Given the description of an element on the screen output the (x, y) to click on. 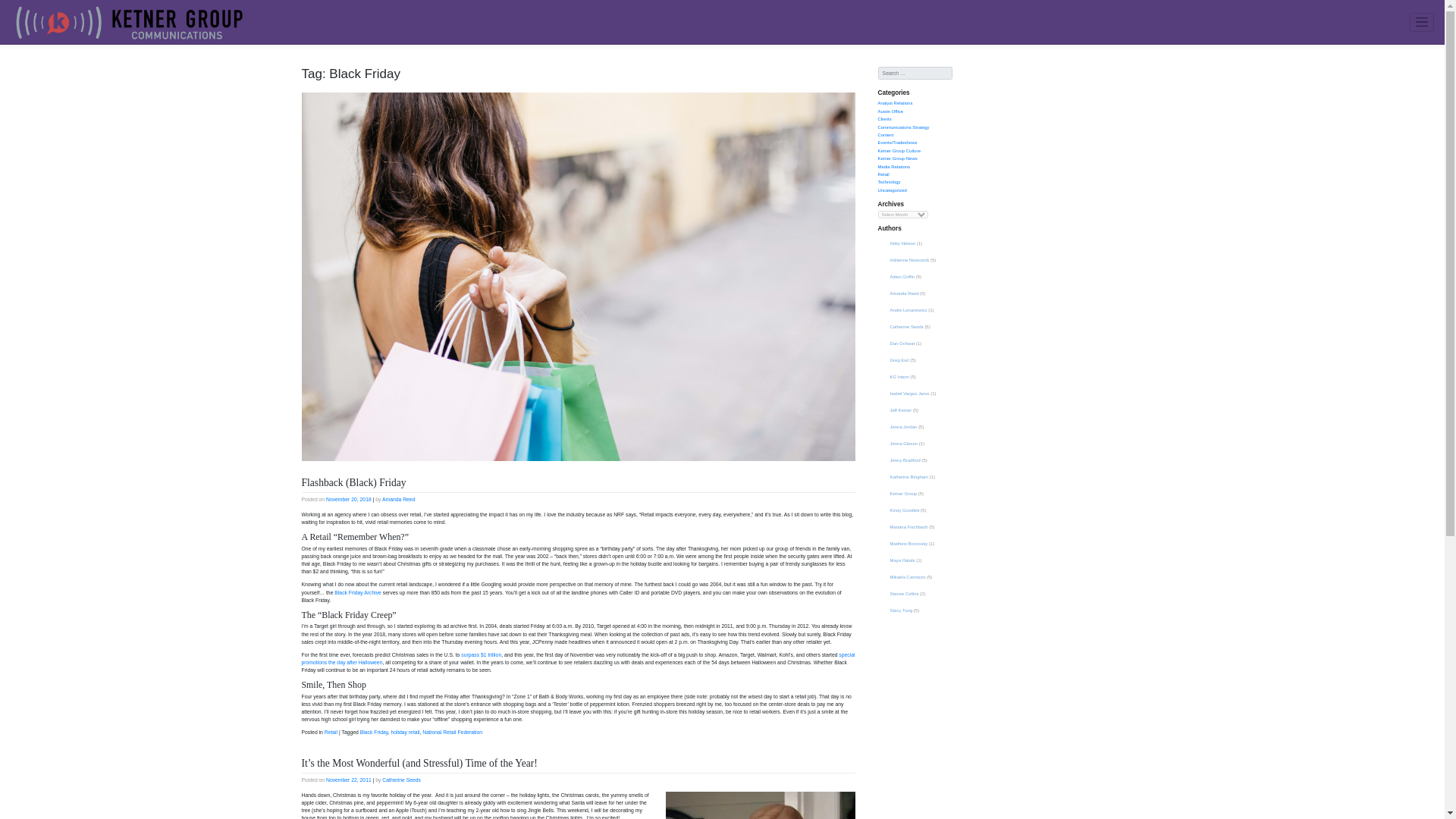
Amanda Reed (397, 499)
National Retail Federation (451, 731)
November 20, 2018 (348, 499)
Black Friday Archive (357, 592)
Catherine Seeds (400, 779)
November 22, 2011 (348, 779)
holiday retail (404, 731)
Search for: (914, 72)
Target lady (760, 805)
Retail (330, 731)
Black Friday (373, 731)
special promotions the day after Halloween (578, 658)
